Given the description of an element on the screen output the (x, y) to click on. 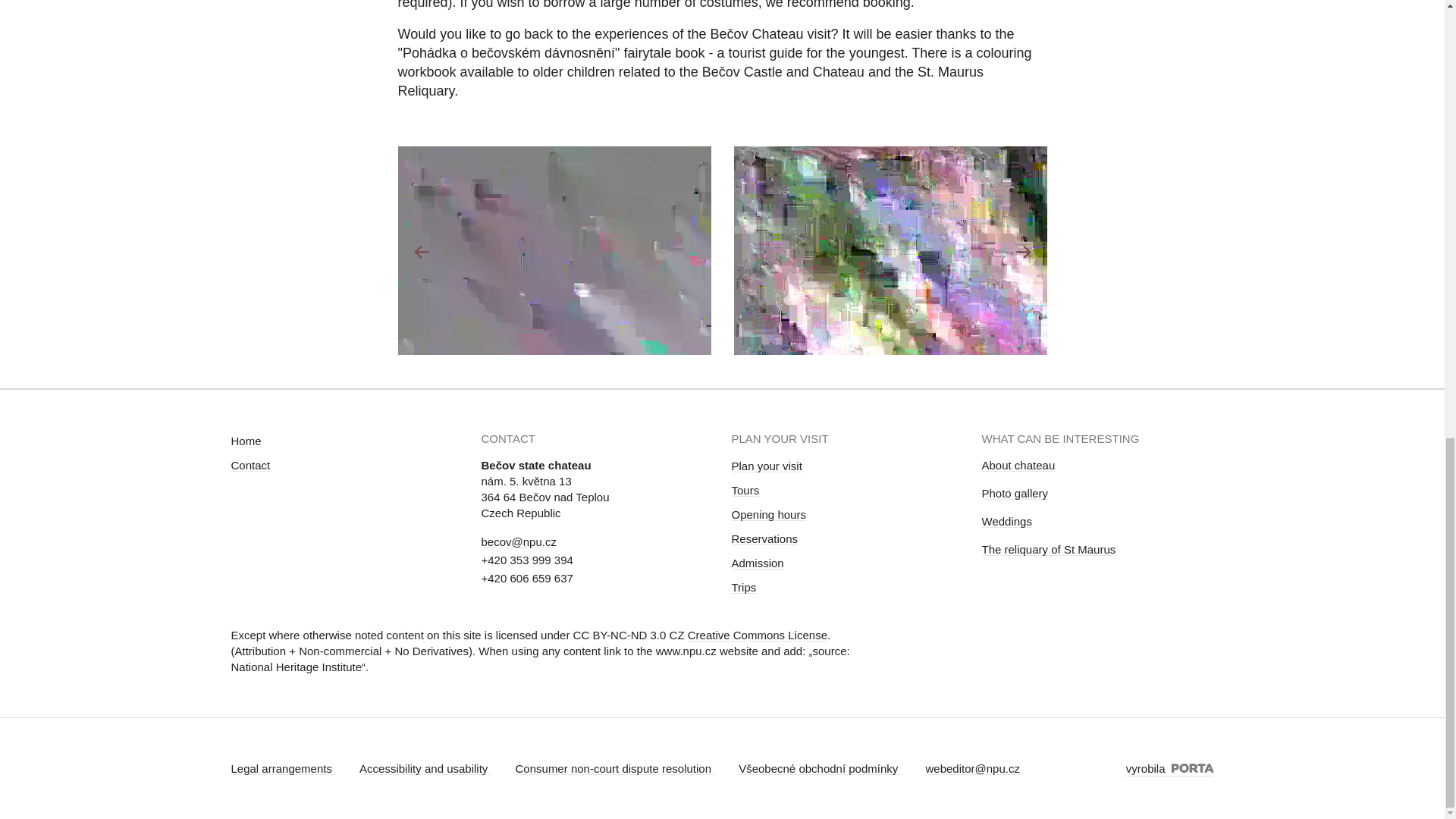
Legal arrangements (282, 768)
Accessibility and usability  (424, 768)
Consumer non-court dispute resolution (614, 768)
